Given the description of an element on the screen output the (x, y) to click on. 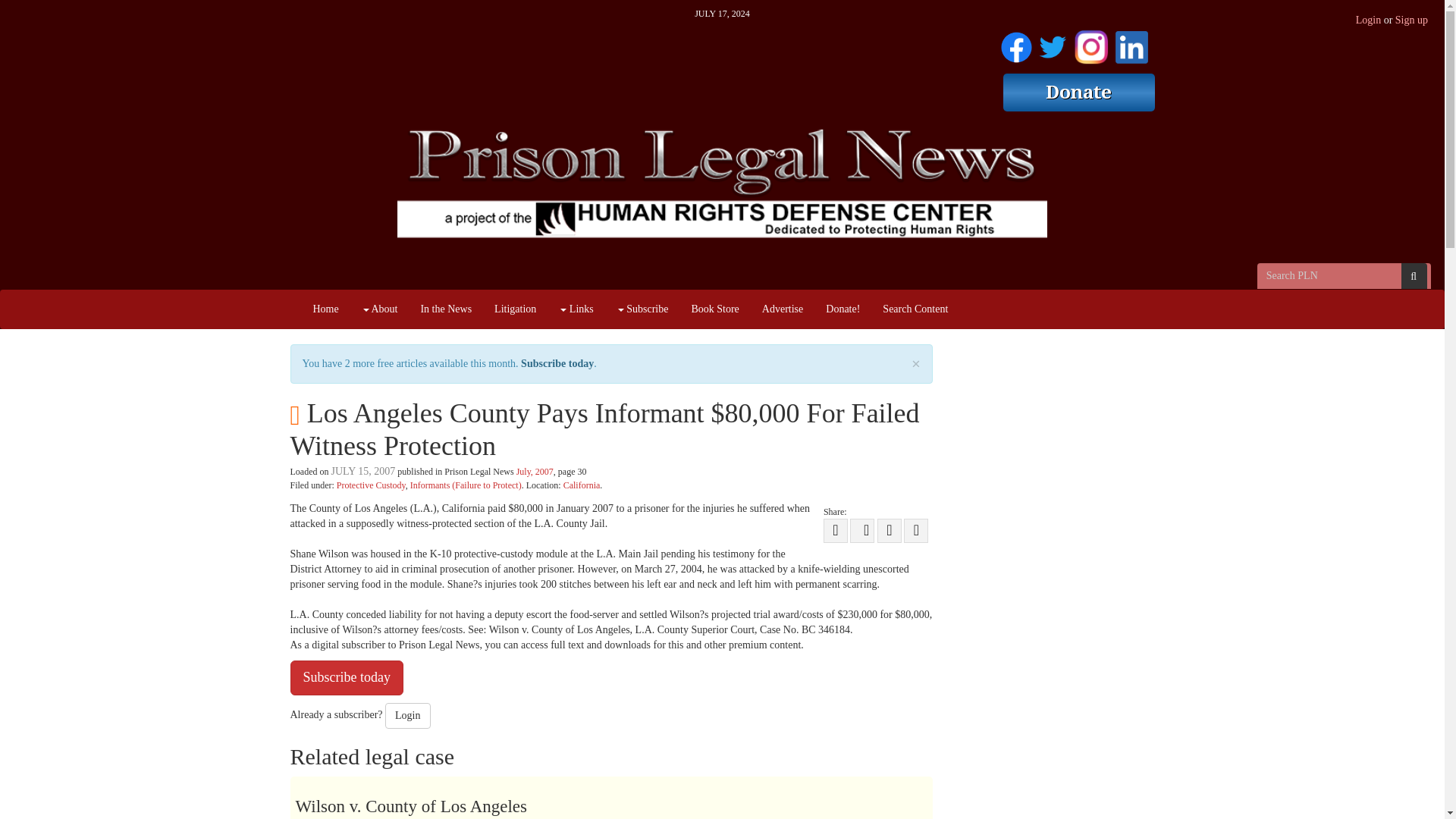
Paul Wright's LinkedIn Page (1131, 44)
About (379, 309)
Sign up (1411, 19)
Search Content (914, 309)
Litigation (515, 309)
PLN's Twitter Feed (1053, 44)
HRDC Instagram Page (1091, 44)
Search (1413, 275)
Home (325, 309)
Subscribe (642, 309)
Subscribe today (557, 363)
In the News (446, 309)
Donate! (841, 309)
Prison Legal News FaceBook Page (1016, 44)
Book Store (714, 309)
